Given the description of an element on the screen output the (x, y) to click on. 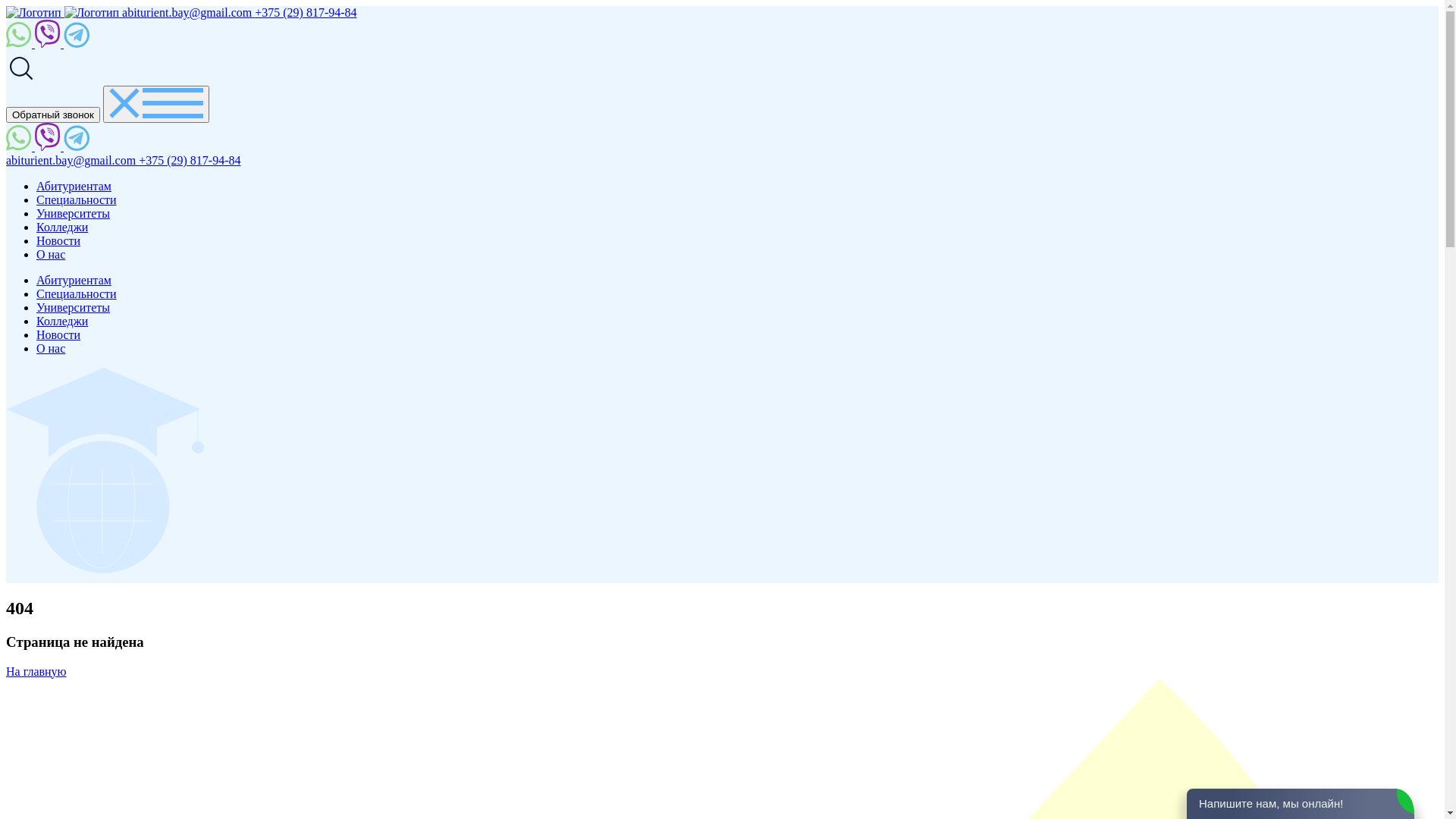
abiturient.bay@gmail.com Element type: text (72, 159)
abiturient.bay@gmail.com Element type: text (188, 12)
+375 (29) 817-94-84 Element type: text (189, 159)
+375 (29) 817-94-84 Element type: text (305, 12)
